Given the description of an element on the screen output the (x, y) to click on. 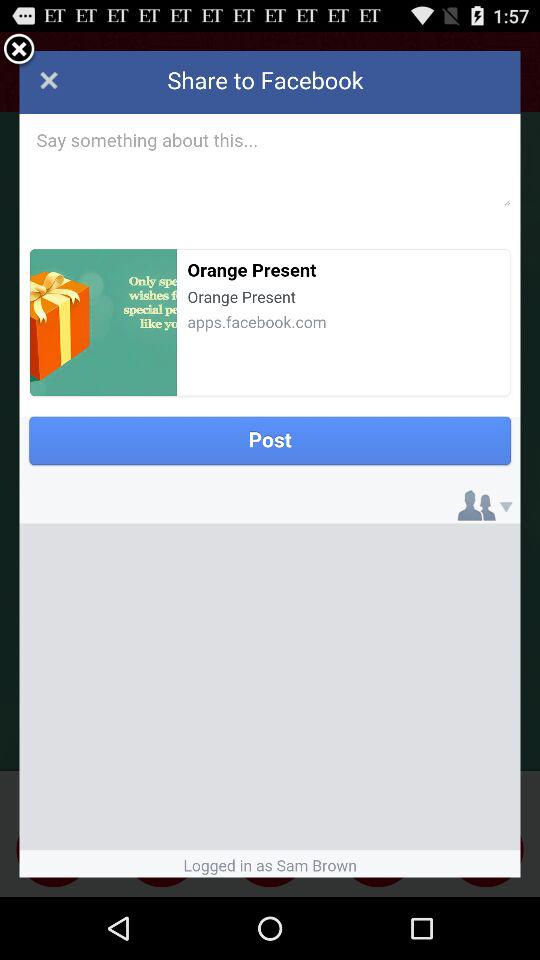
close frame (19, 50)
